Given the description of an element on the screen output the (x, y) to click on. 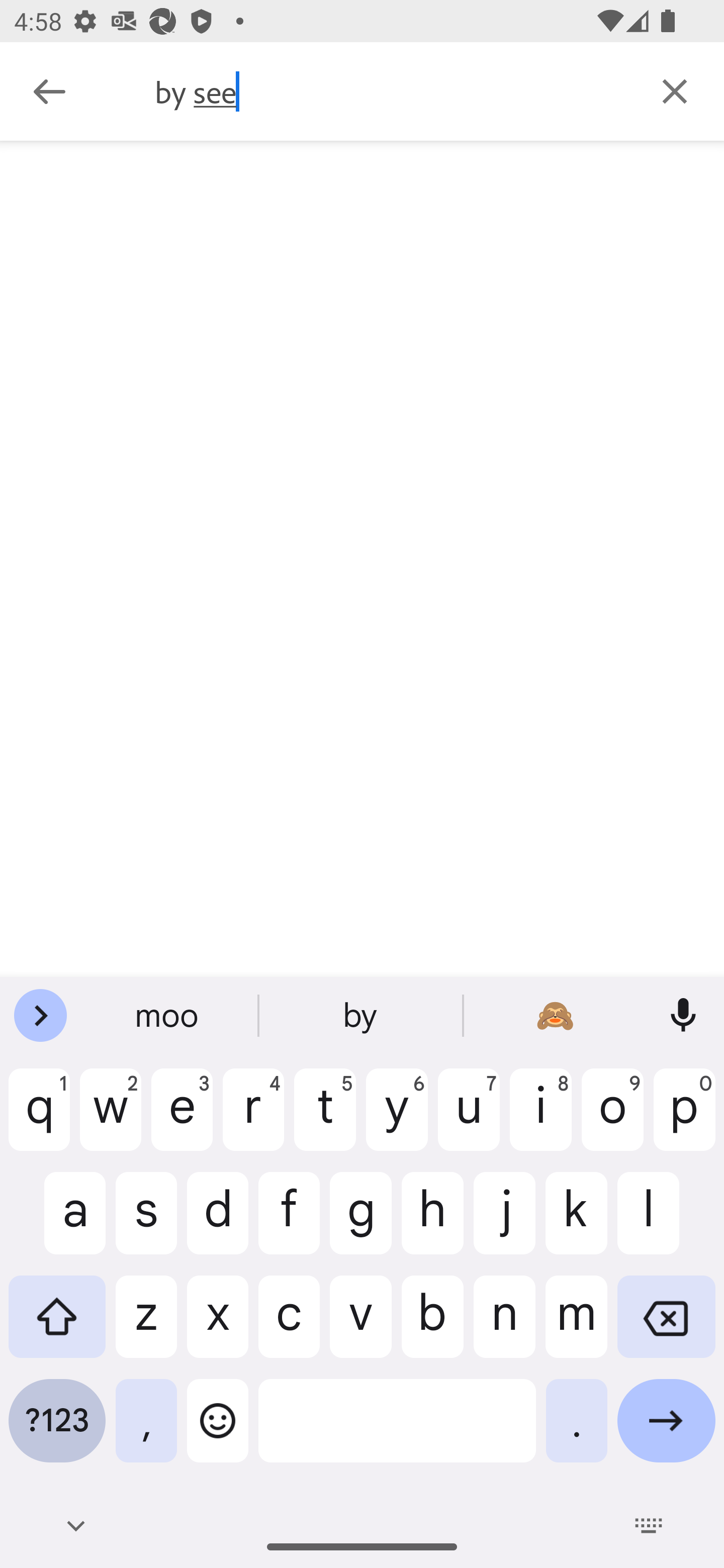
Navigate up (49, 91)
Clear query (674, 90)
by see (389, 91)
